Given the description of an element on the screen output the (x, y) to click on. 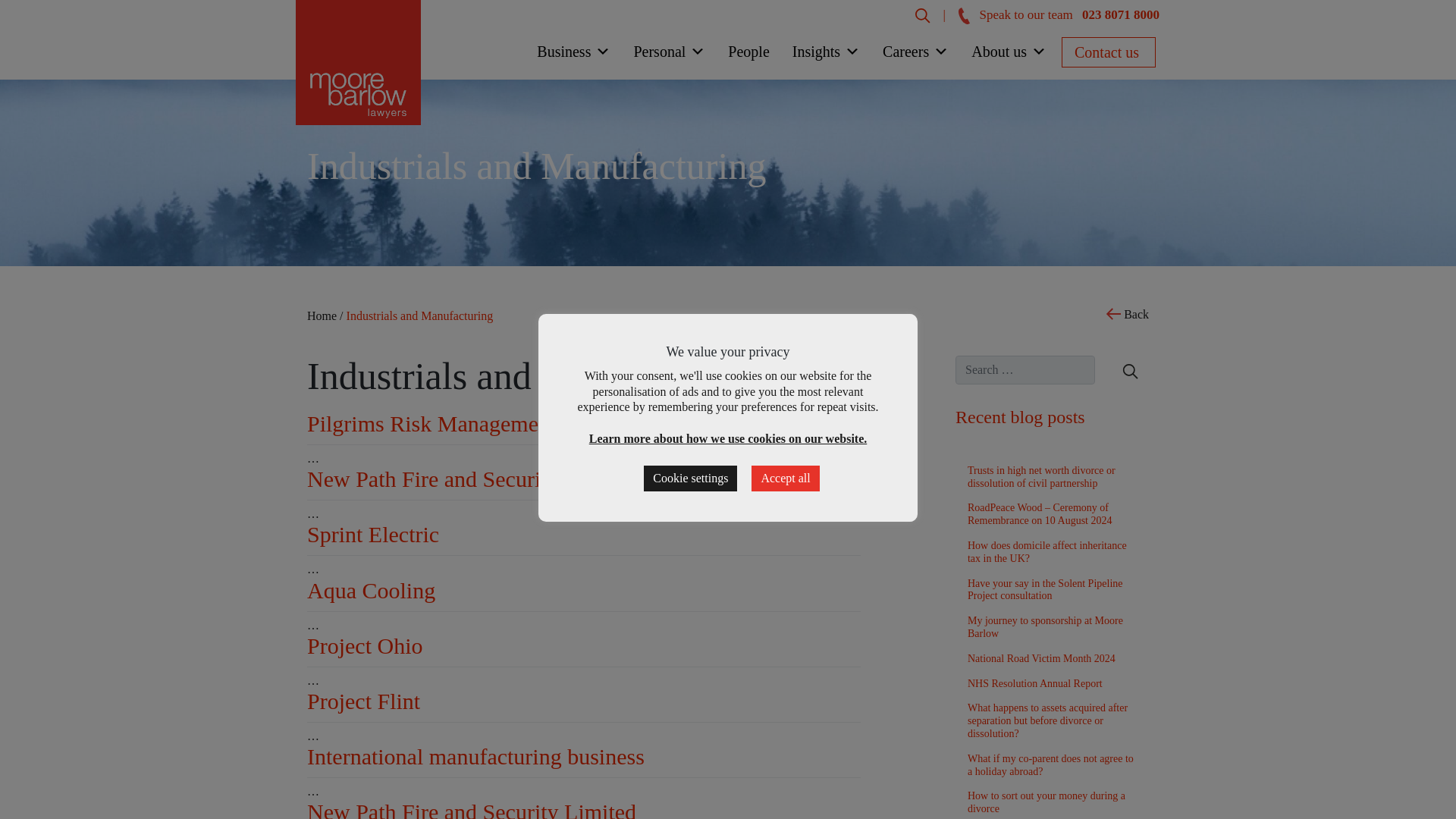
Business (573, 55)
Search for: (1024, 369)
Speak to our team 023 8071 8000 (1058, 14)
Search Moore Barlow (922, 14)
